Given the description of an element on the screen output the (x, y) to click on. 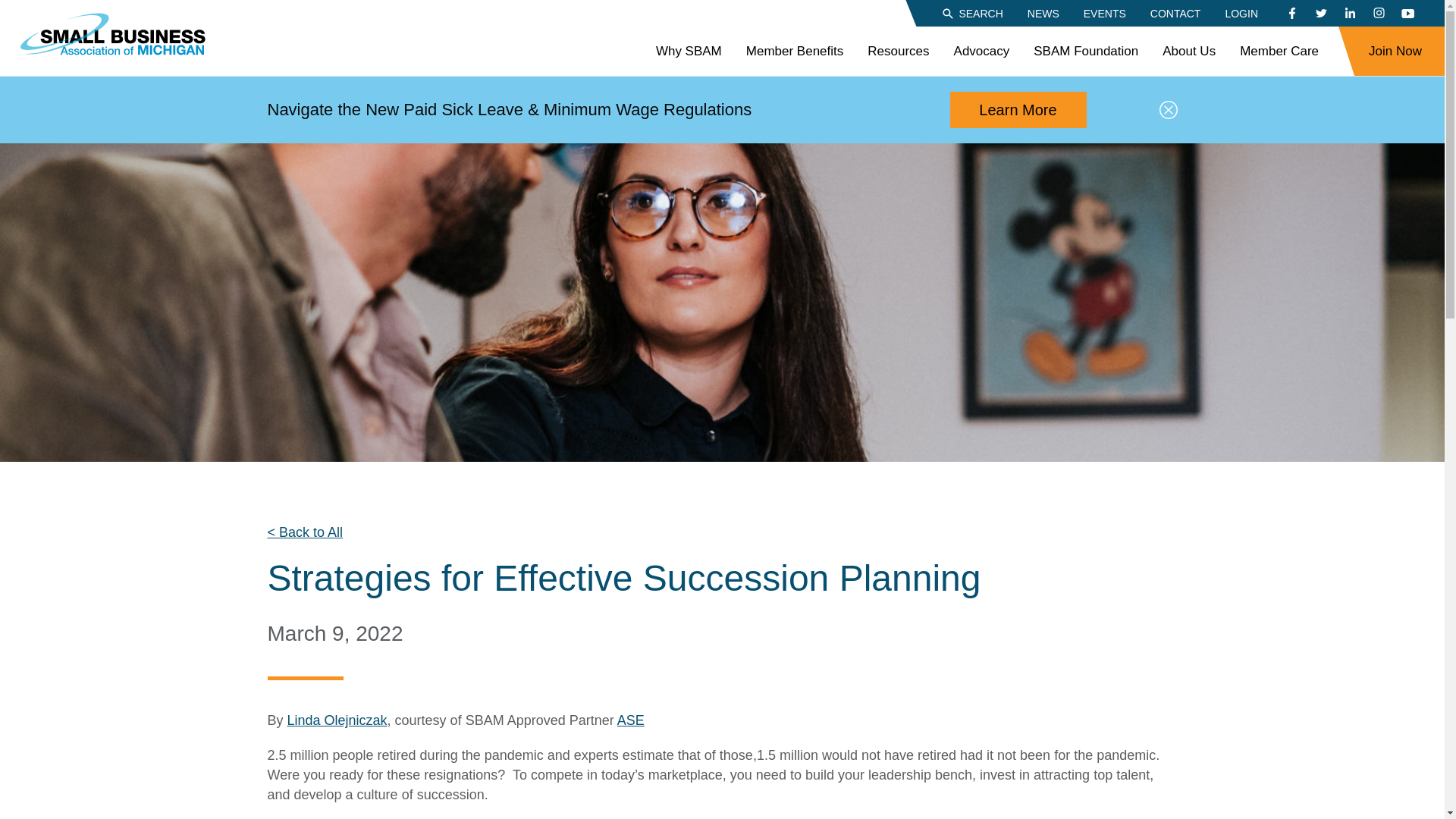
FACEBOOK (1292, 13)
EVENTS (1104, 12)
SEARCH (971, 12)
LINKEDIN (1349, 13)
TWITTER (1320, 13)
NEWS (1043, 12)
Why SBAM (688, 51)
INSTAGRAM (1378, 13)
Skip to main content (11, 7)
LOGIN (1241, 12)
